Given the description of an element on the screen output the (x, y) to click on. 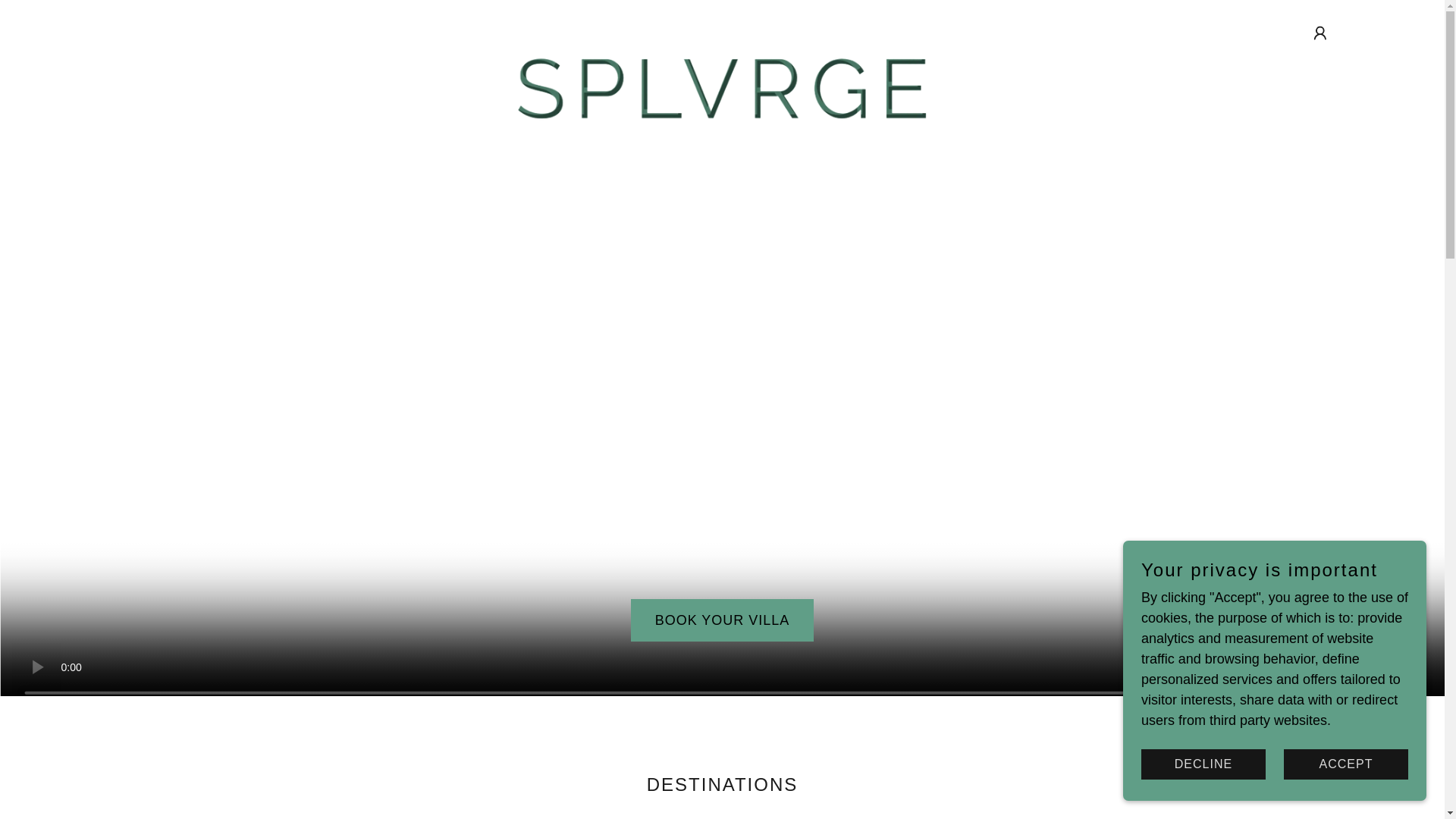
SPLVRGE (722, 29)
ACCEPT (1345, 764)
DECLINE (1203, 764)
BOOK YOUR VILLA (721, 619)
